Given the description of an element on the screen output the (x, y) to click on. 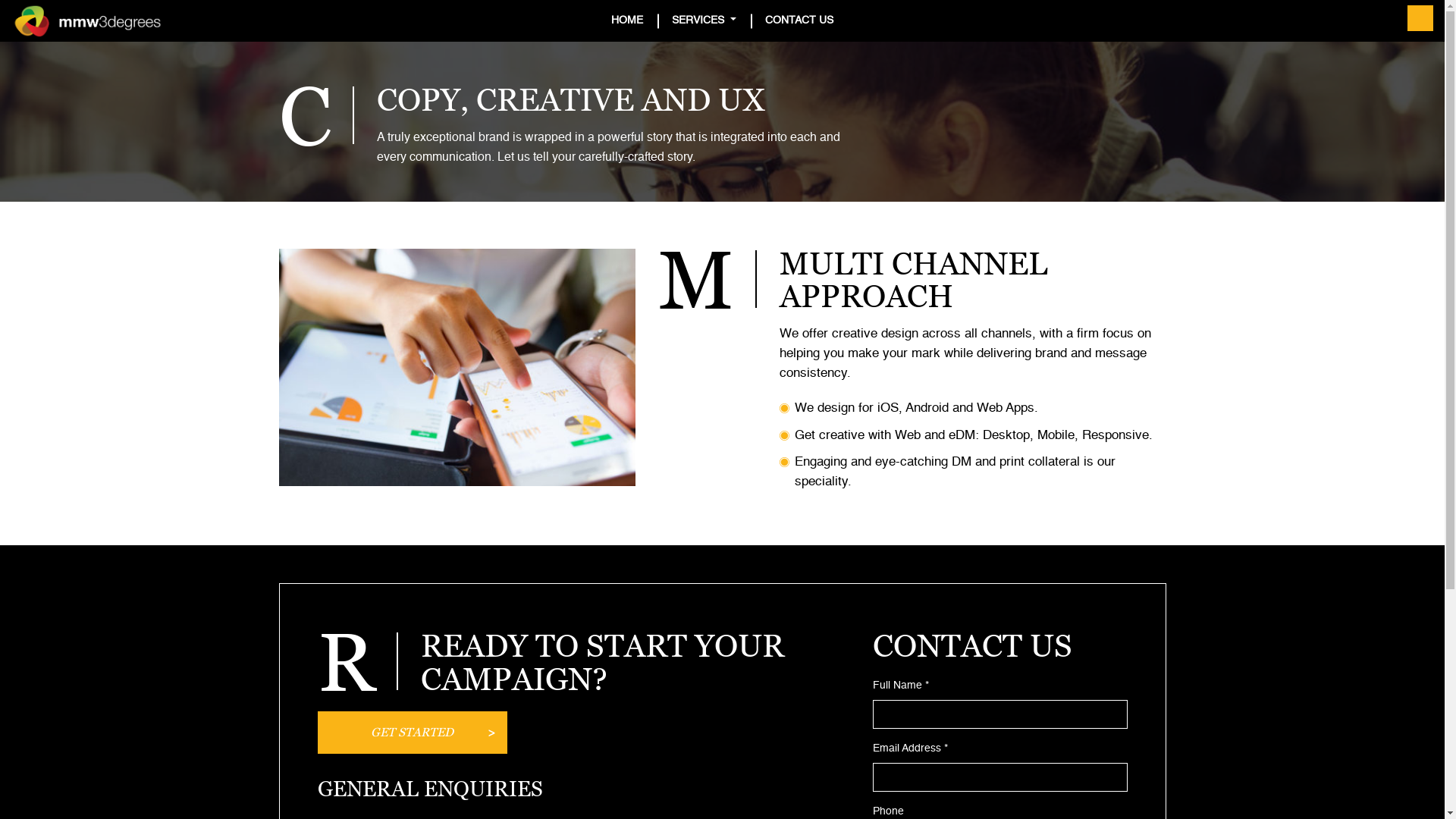
GET STARTED Element type: text (411, 732)
CONTACT US Element type: text (799, 20)
HOME Element type: text (626, 20)
SERVICES Element type: text (703, 20)
